Given the description of an element on the screen output the (x, y) to click on. 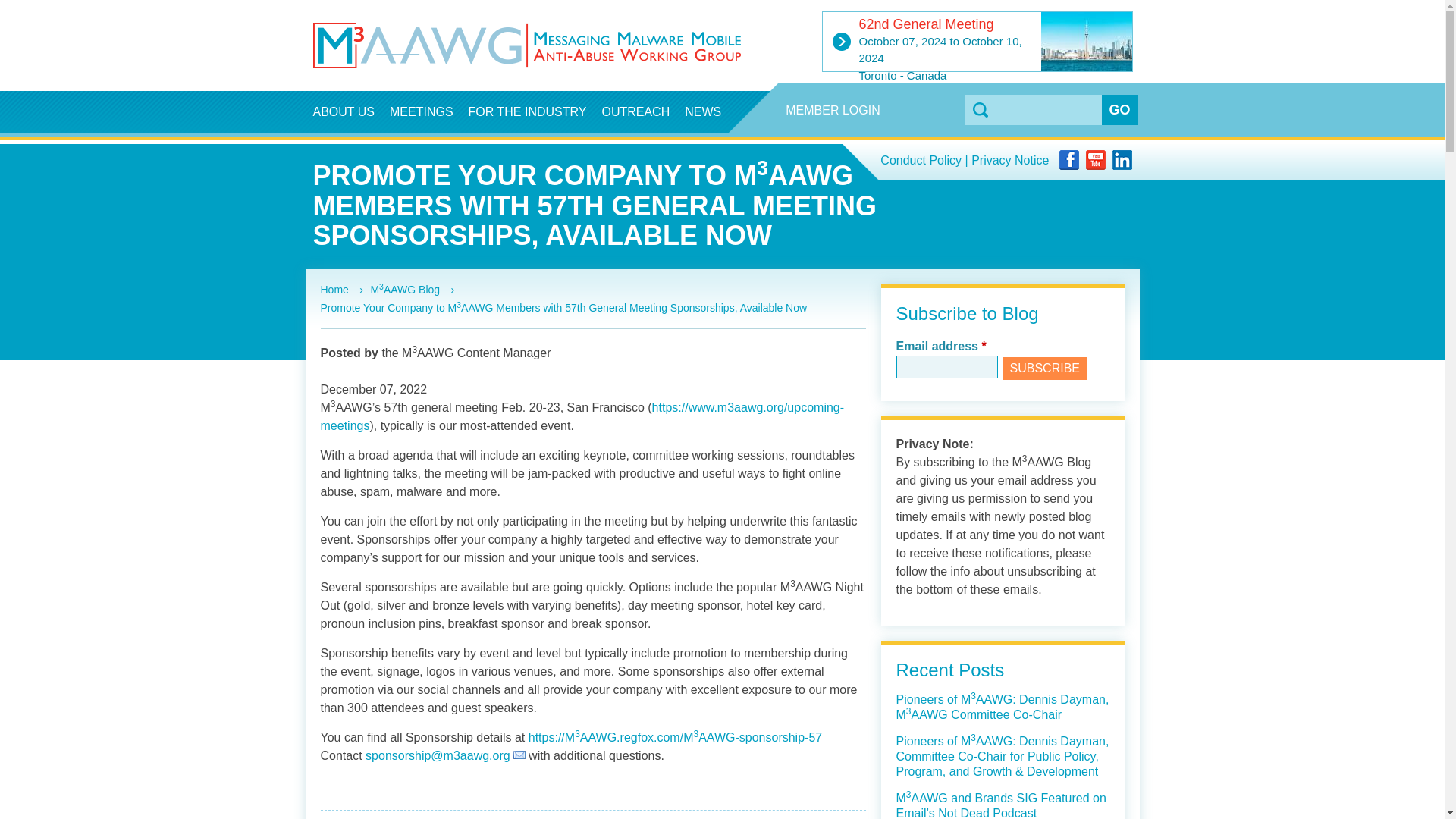
MEETINGS (421, 111)
ABOUT US (342, 111)
GO (1118, 110)
MEMBER LOGIN (831, 109)
NEWS (703, 111)
FOR THE INDUSTRY (527, 111)
Subscribe (1045, 368)
OUTREACH (635, 111)
